Given the description of an element on the screen output the (x, y) to click on. 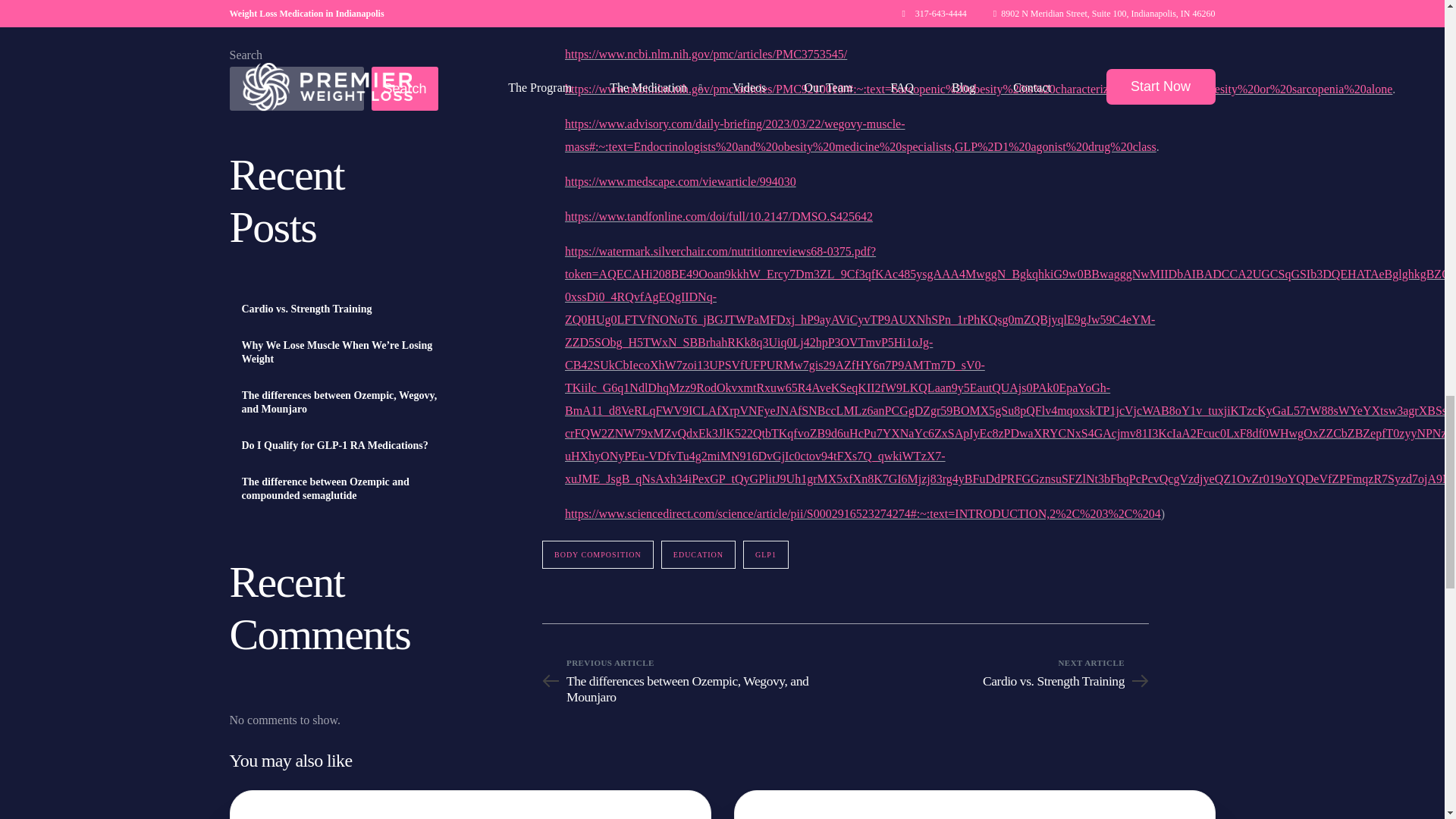
The differences between Ozempic, Wegovy, and Mounjaro (693, 689)
Cardio vs. Strength Training (996, 681)
 View Post: Do I Qualify for GLP-1 RA Medications? (795, 805)
 View Post: Cardio vs. Strength Training (291, 805)
